Given the description of an element on the screen output the (x, y) to click on. 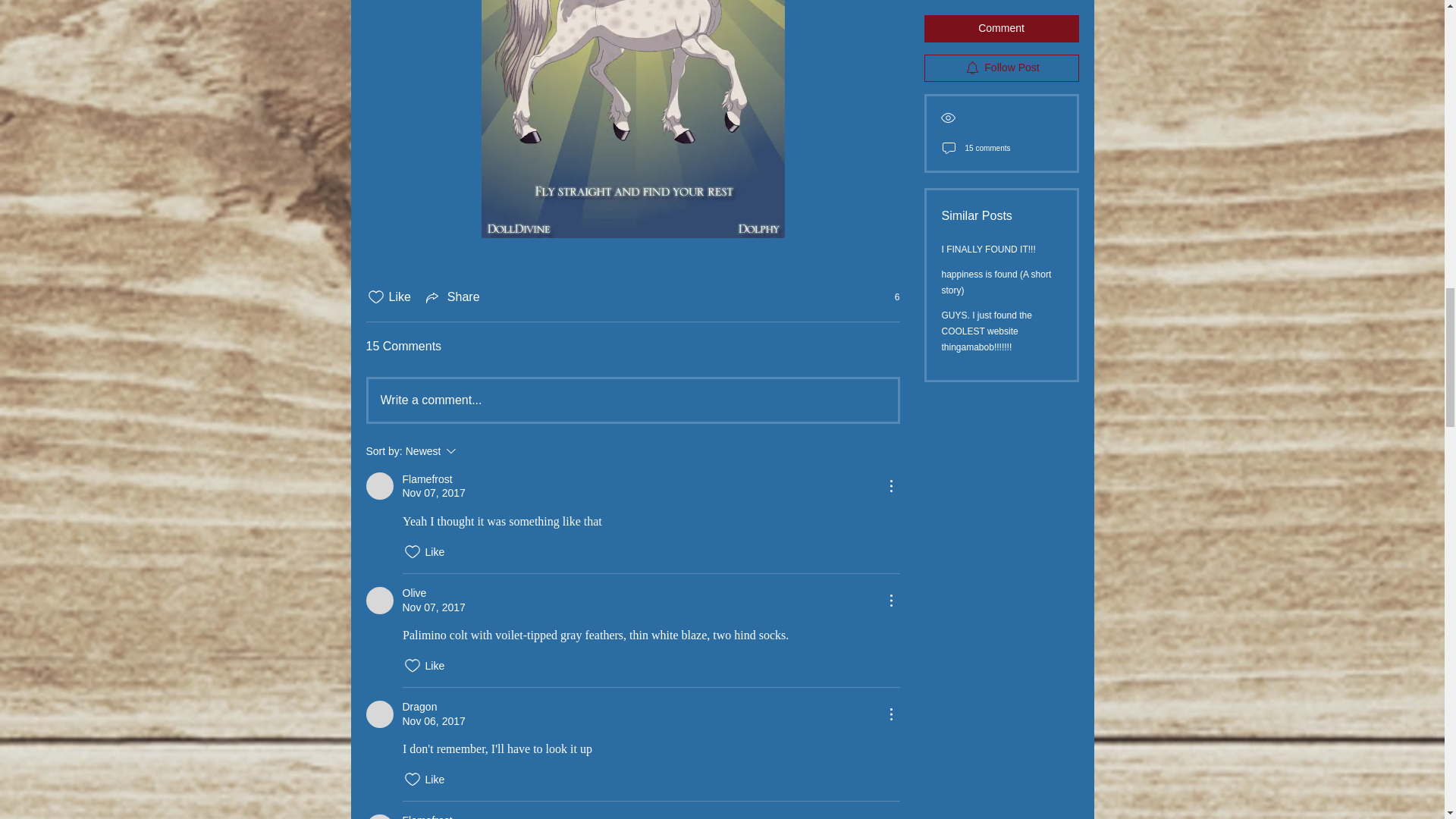
Flamefrost (379, 485)
Olive (379, 600)
Dragon (379, 714)
Flamefrost (379, 816)
